Given the description of an element on the screen output the (x, y) to click on. 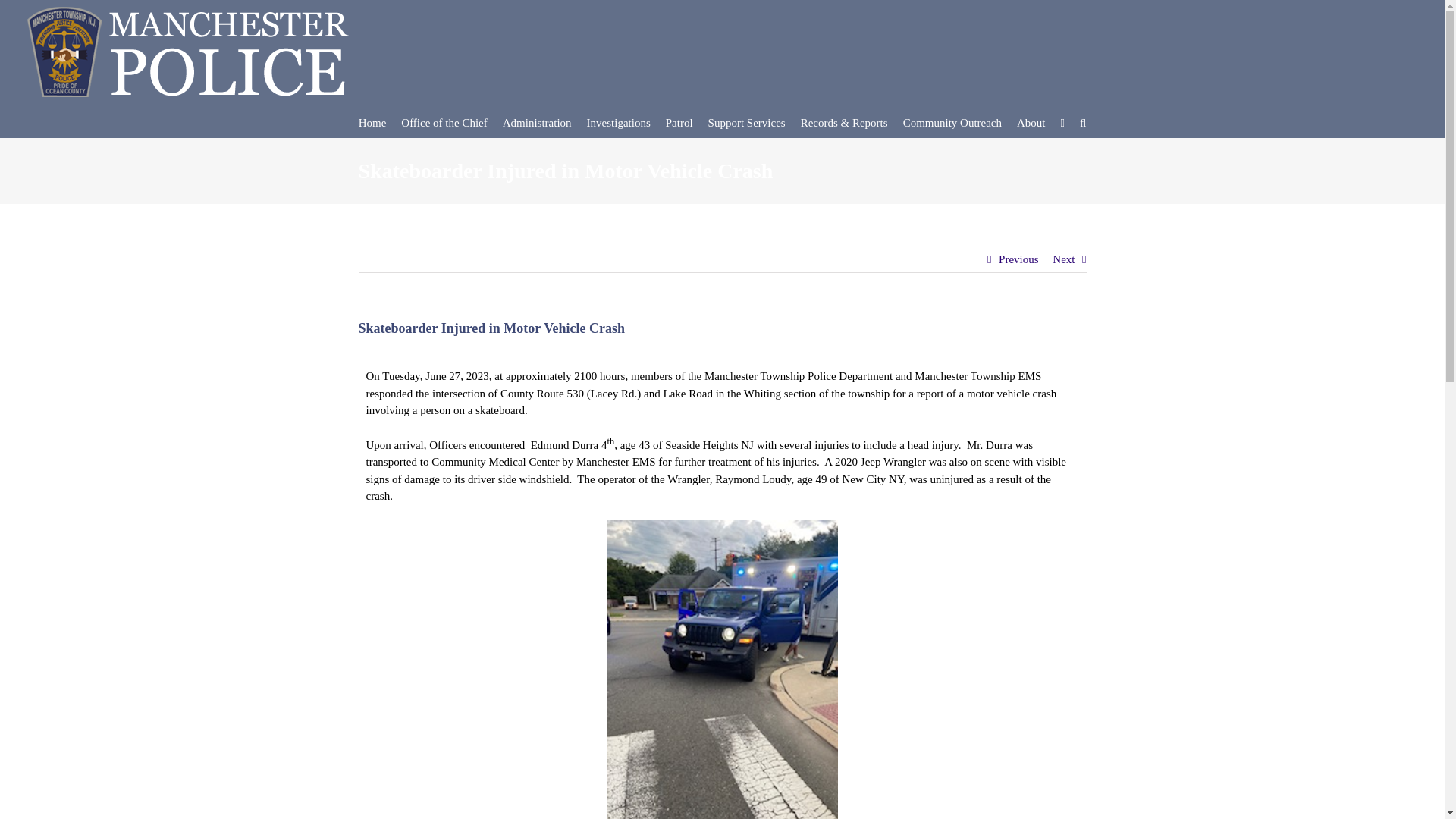
Support Services (746, 122)
Investigations (618, 122)
Office of the Chief (443, 122)
Patrol (679, 122)
Administration (537, 122)
Home (372, 122)
Community Outreach (951, 122)
